Given the description of an element on the screen output the (x, y) to click on. 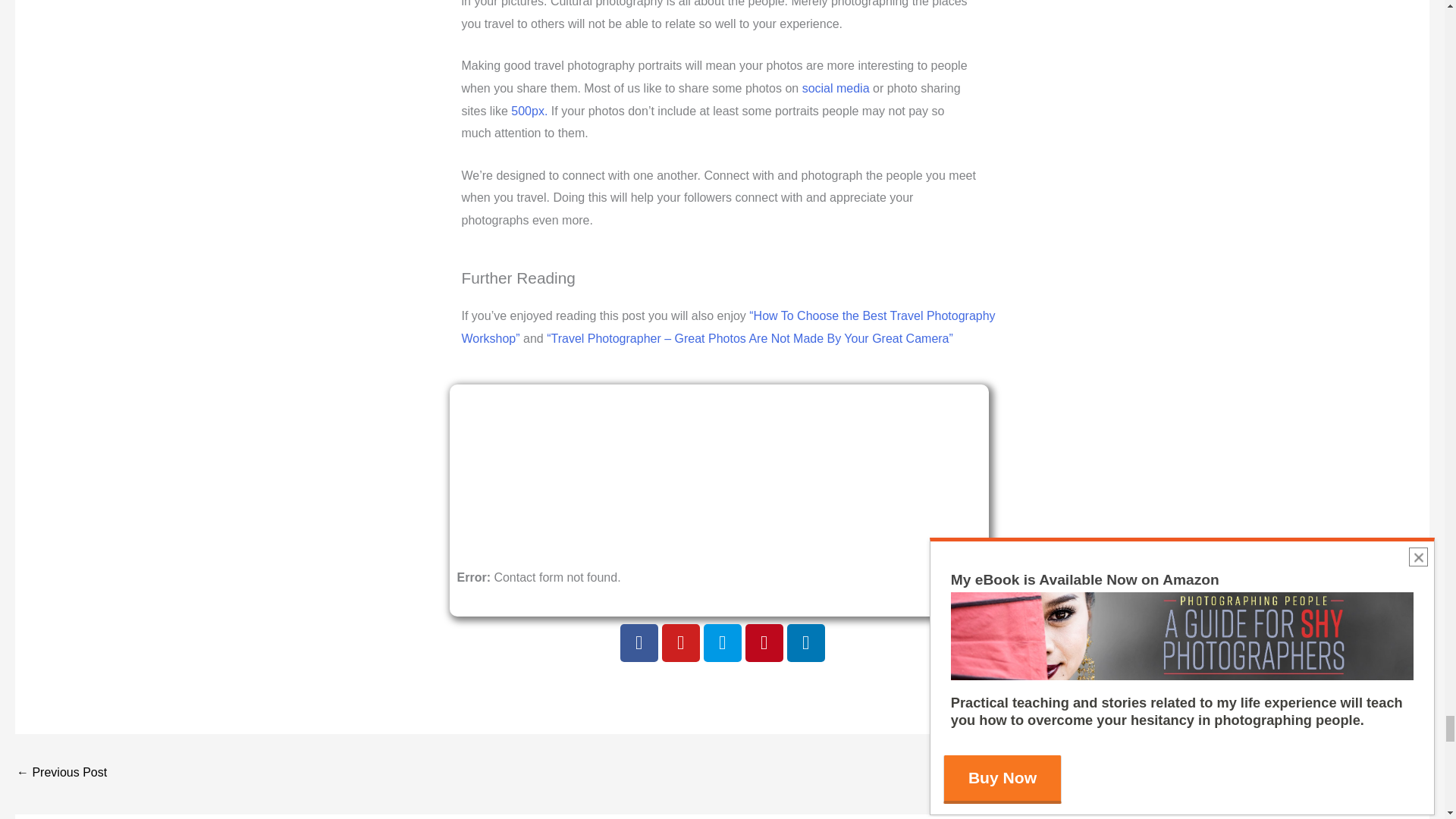
500px (722, 642)
Youtube (679, 642)
Linkedin (806, 642)
The Best Chiang Mai Photo Location Tips (61, 773)
Pinterest (763, 642)
Facebook (639, 642)
social media (835, 88)
500px. (529, 110)
